Given the description of an element on the screen output the (x, y) to click on. 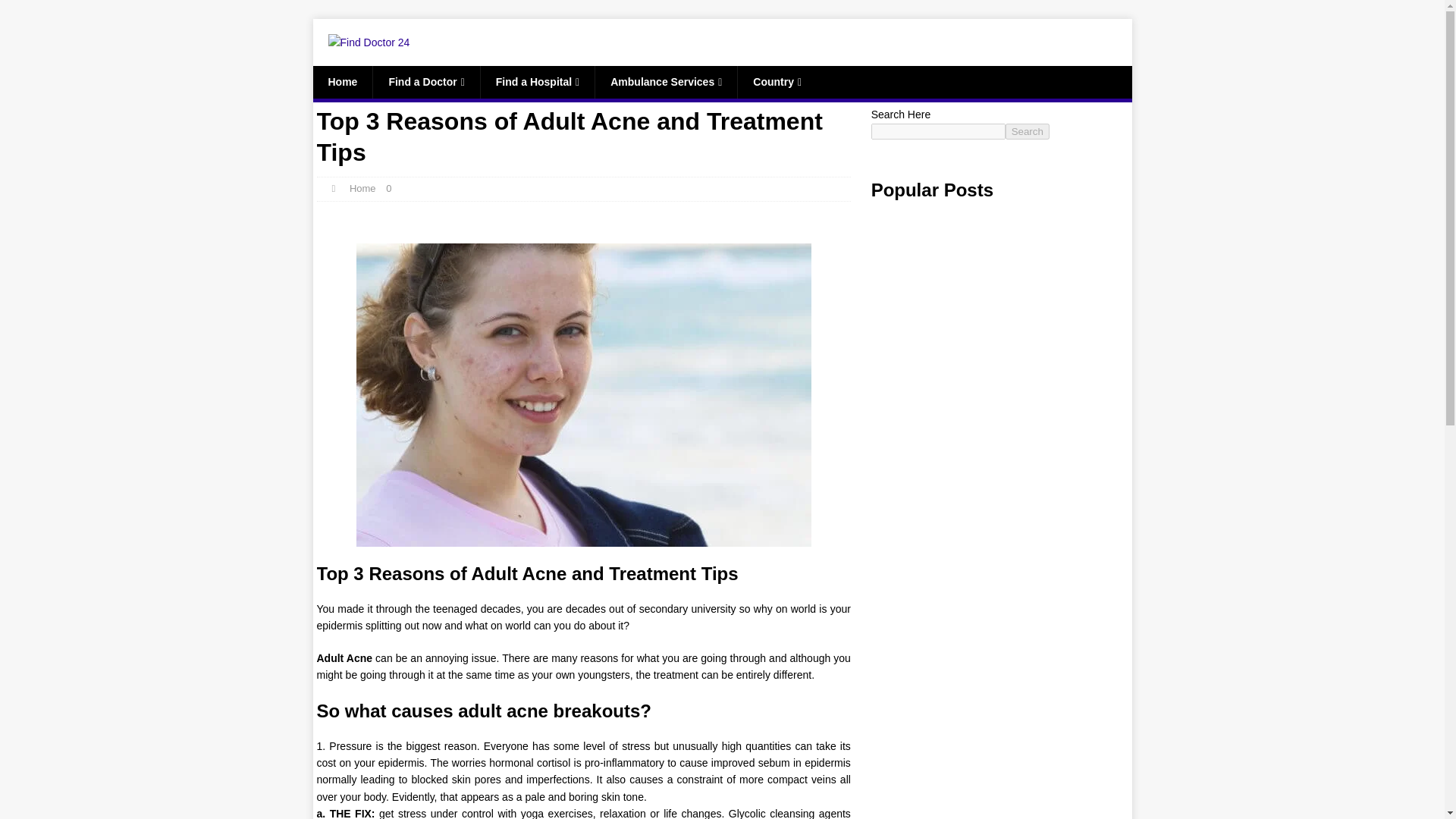
Find a Doctor (425, 81)
Home (342, 81)
Find a Hospital (537, 81)
Ambulance Services (665, 81)
